Given the description of an element on the screen output the (x, y) to click on. 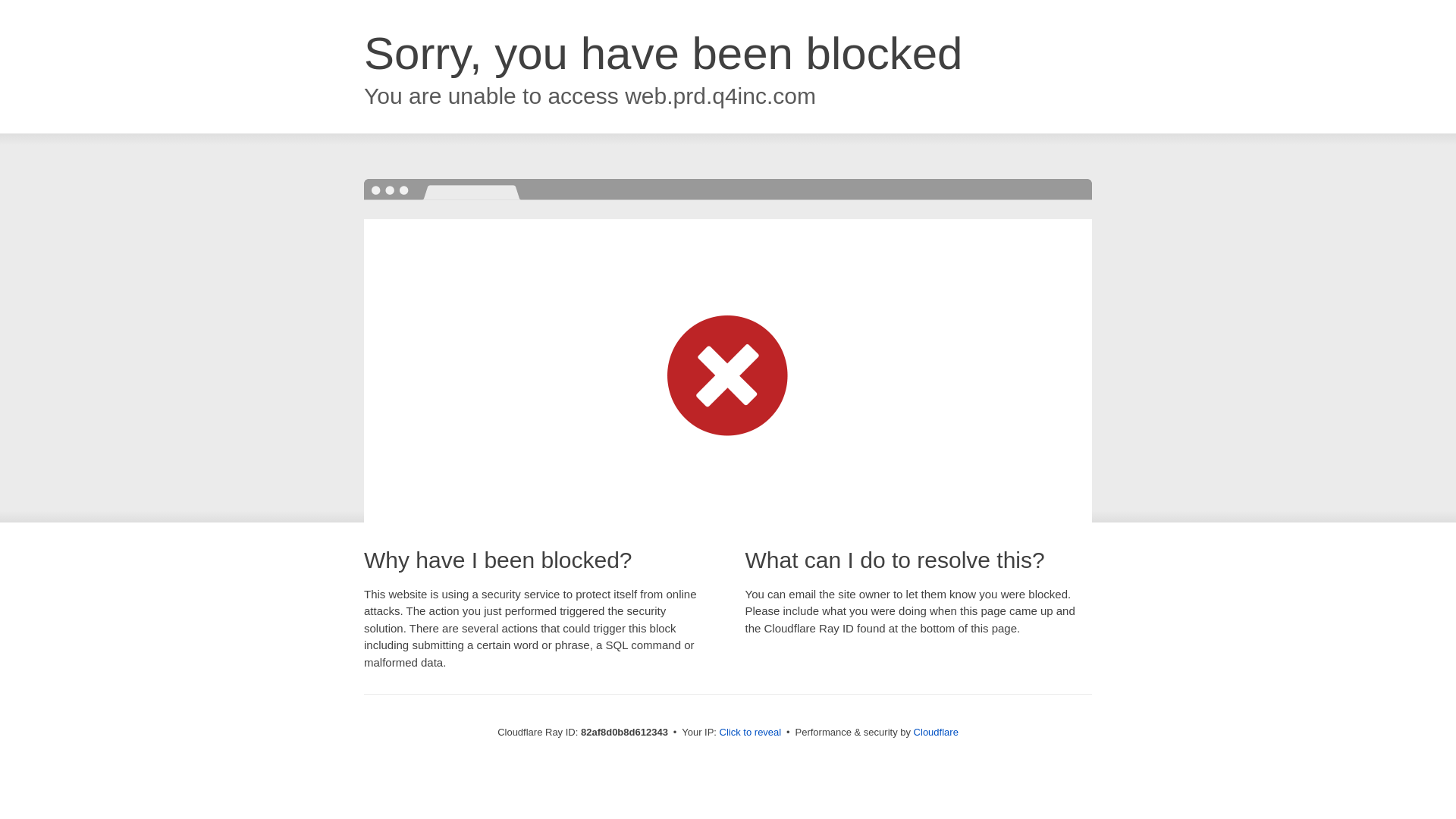
Cloudflare Element type: text (935, 731)
Click to reveal Element type: text (750, 732)
